Given the description of an element on the screen output the (x, y) to click on. 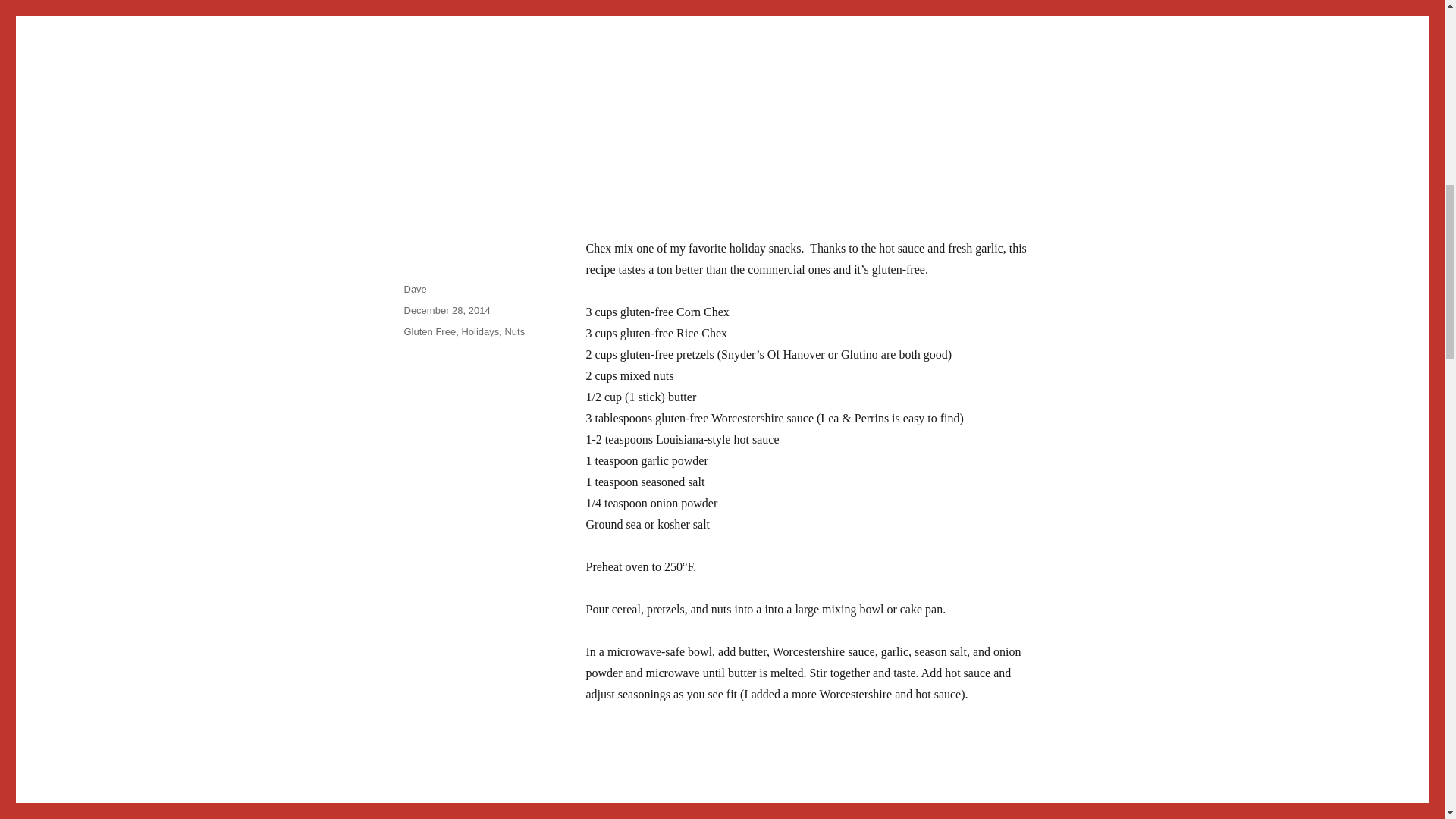
December 28, 2014 (446, 310)
Nuts (513, 331)
Dave (414, 288)
Gluten Free (429, 331)
Holidays (480, 331)
